Given the description of an element on the screen output the (x, y) to click on. 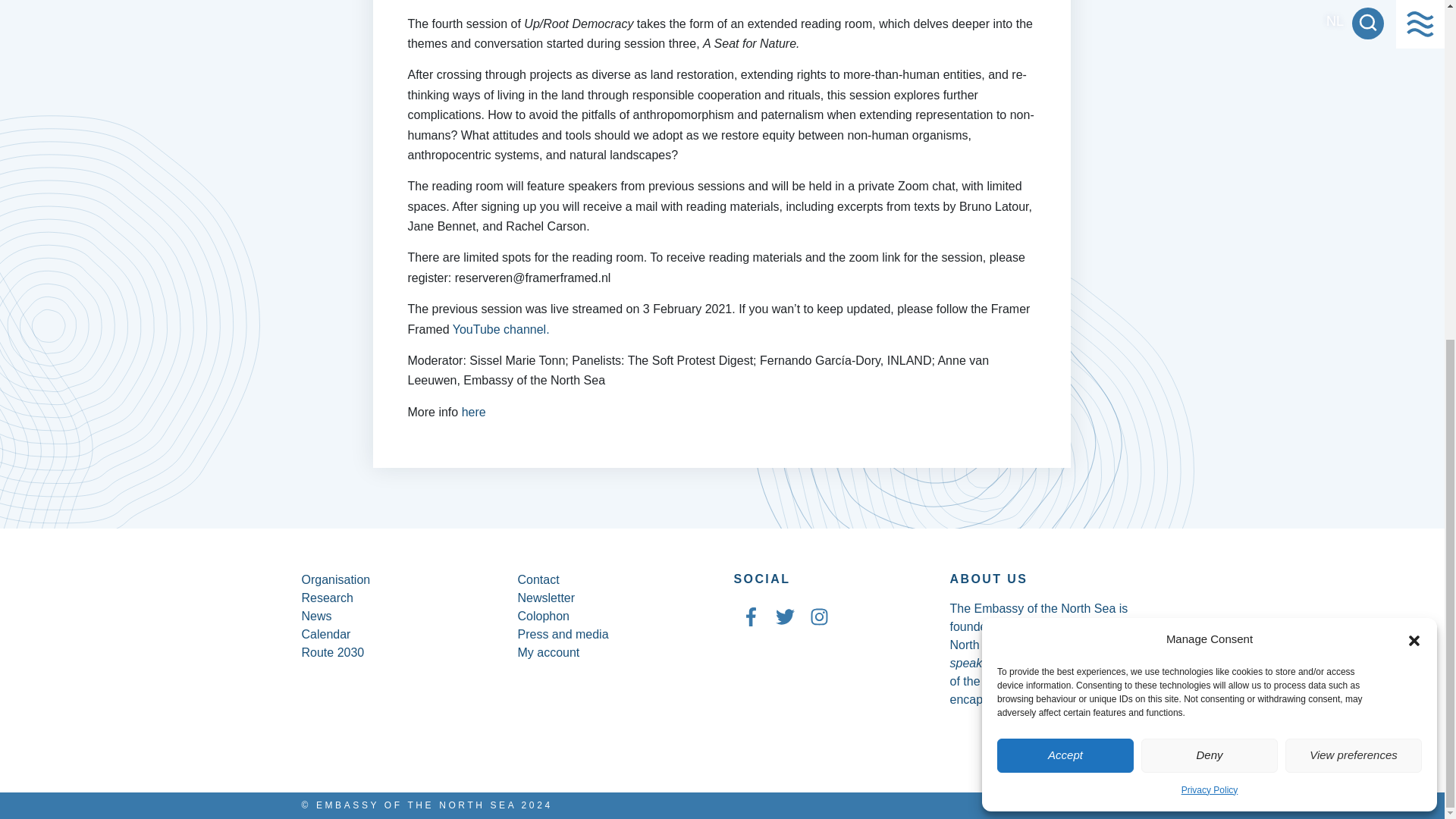
YouTube channel. (501, 328)
Accept (1065, 179)
Privacy Policy (1209, 214)
View preferences (1353, 179)
here (473, 411)
Deny (1209, 179)
